Given the description of an element on the screen output the (x, y) to click on. 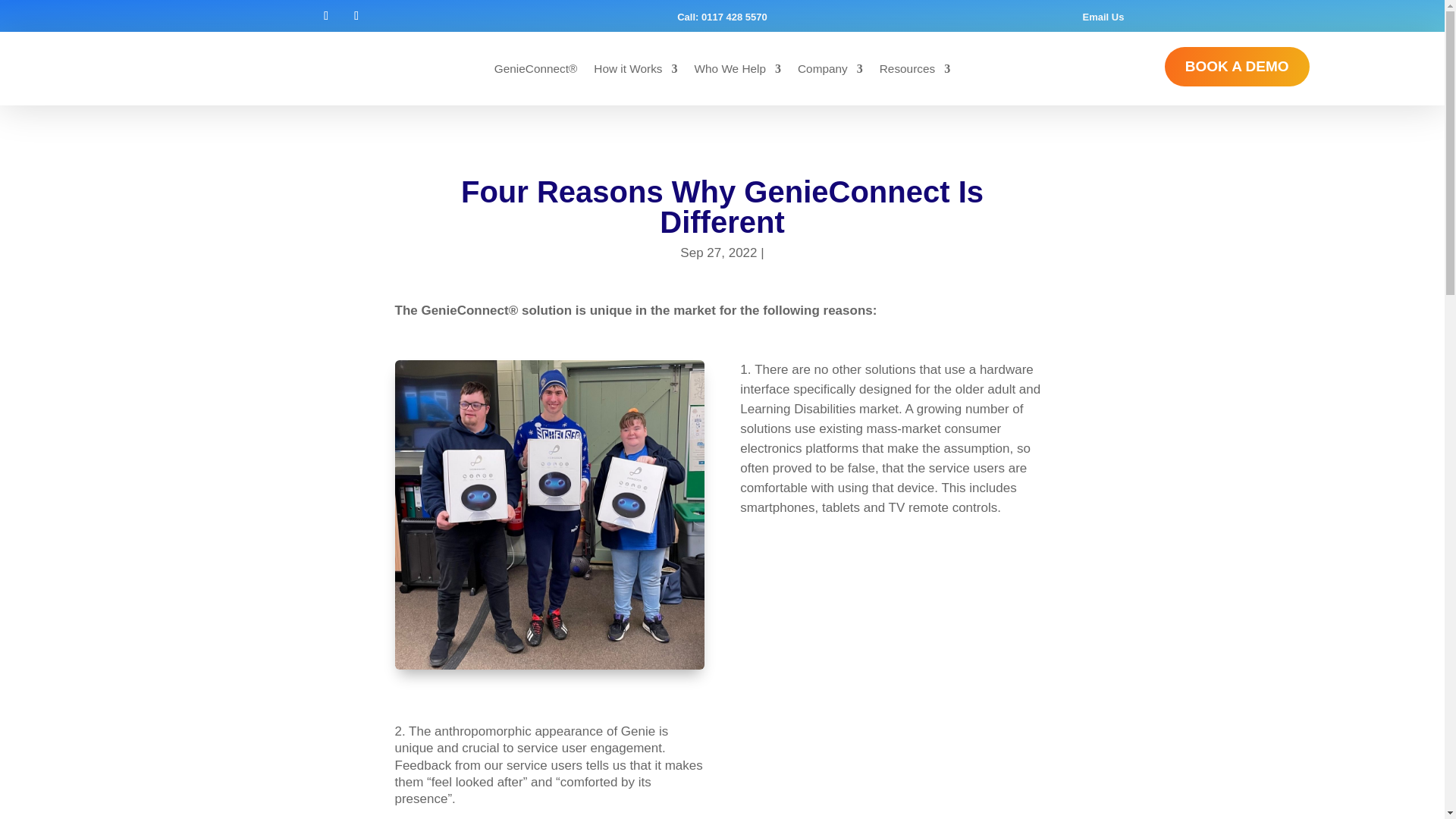
Who We Help (737, 71)
Email Us (1102, 16)
Resources (914, 71)
Follow on X (355, 15)
Company (830, 71)
How it Works (635, 71)
Follow on Facebook (325, 15)
